Given the description of an element on the screen output the (x, y) to click on. 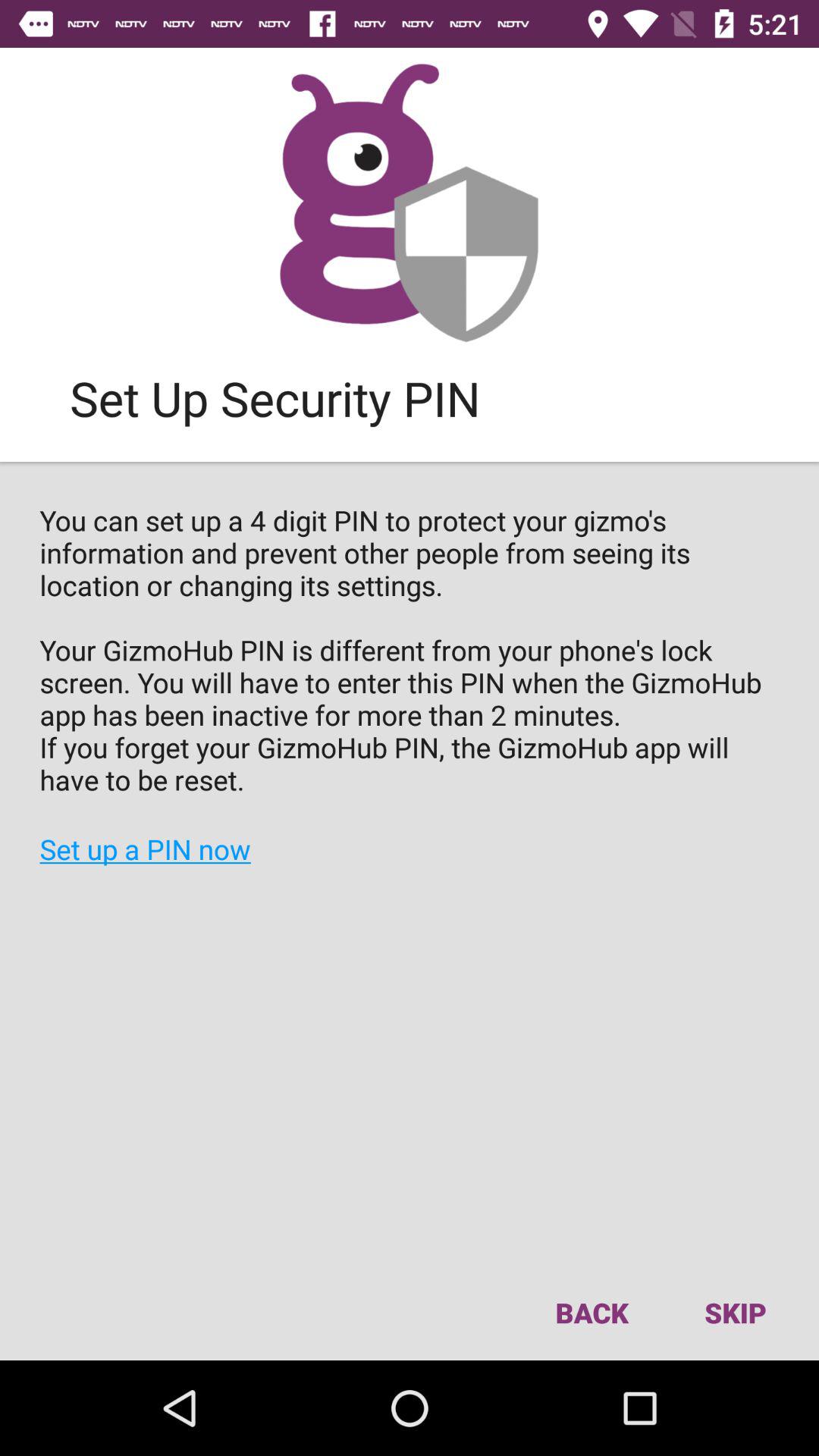
select skip icon (735, 1312)
